Given the description of an element on the screen output the (x, y) to click on. 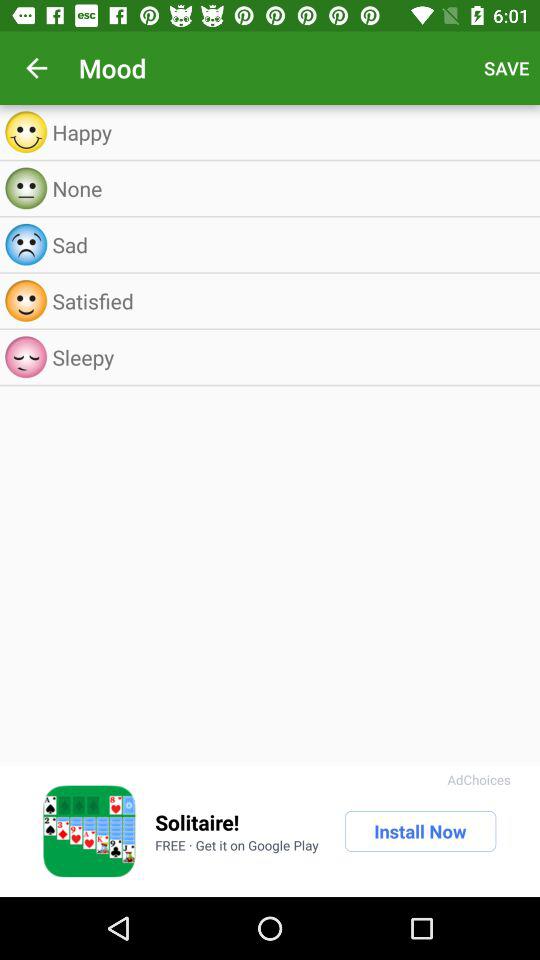
turn off the app to the left of the mood app (36, 68)
